Given the description of an element on the screen output the (x, y) to click on. 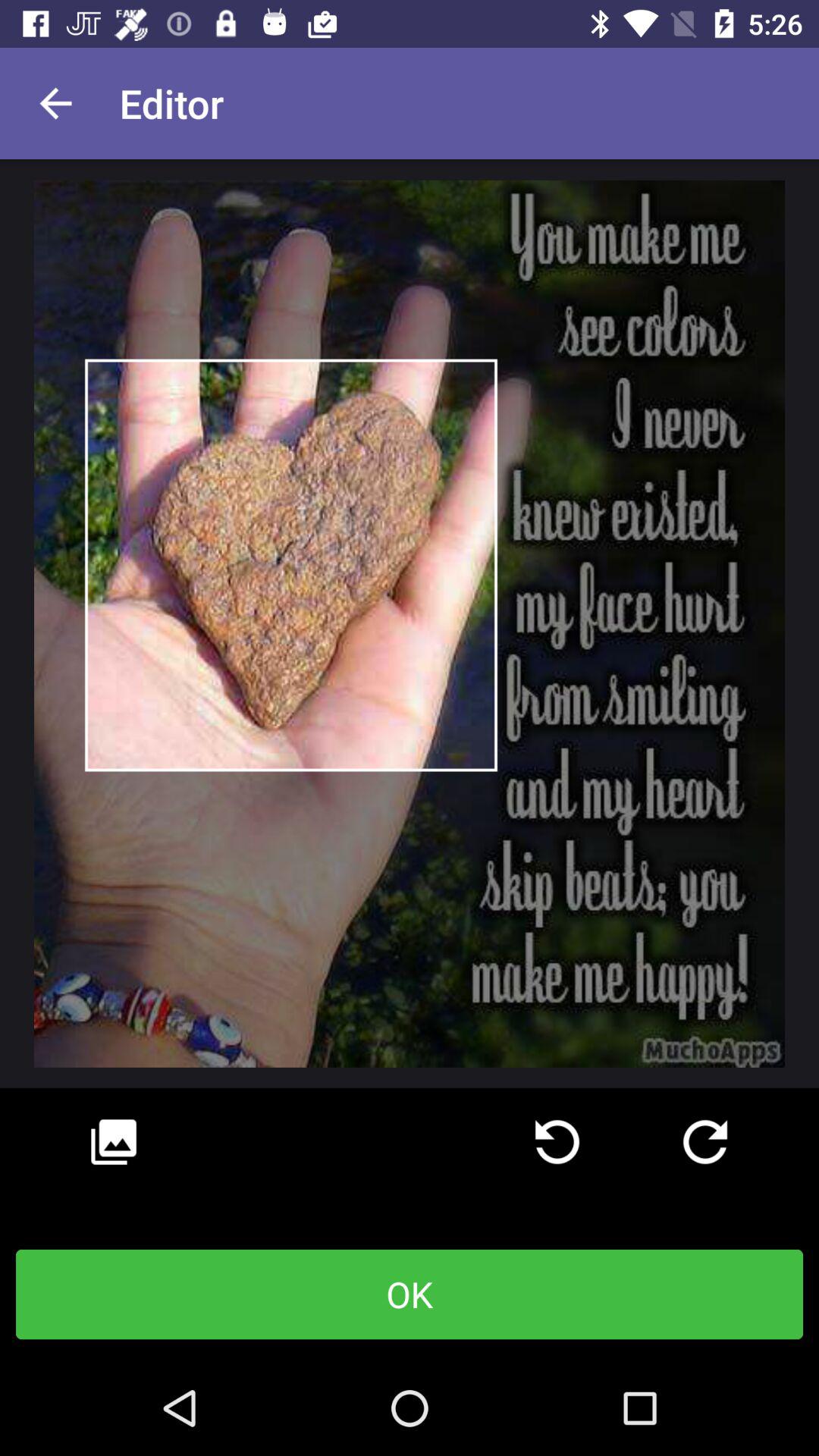
flip to the ok item (409, 1294)
